Given the description of an element on the screen output the (x, y) to click on. 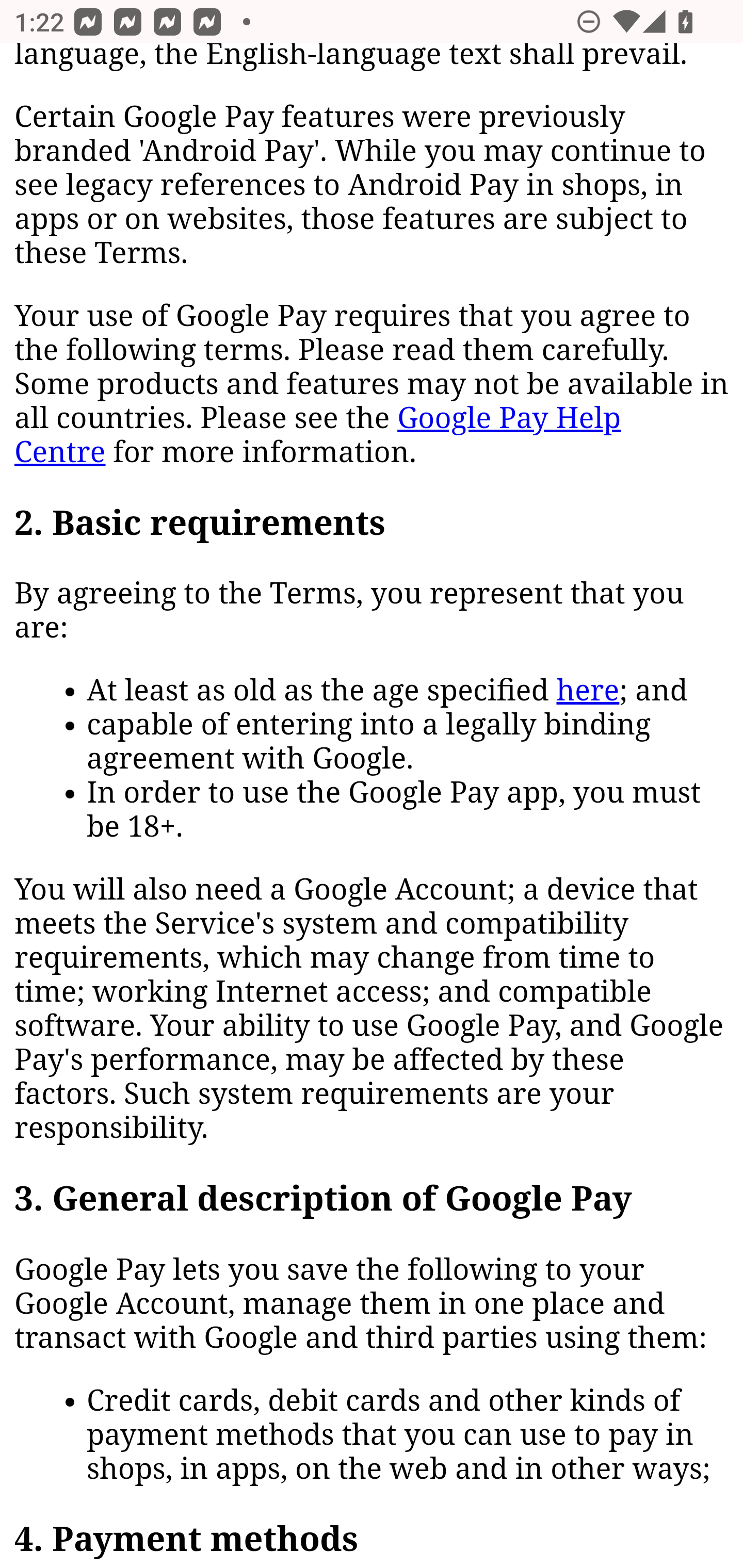
Google Pay Help Centre (318, 435)
here (588, 690)
